Given the description of an element on the screen output the (x, y) to click on. 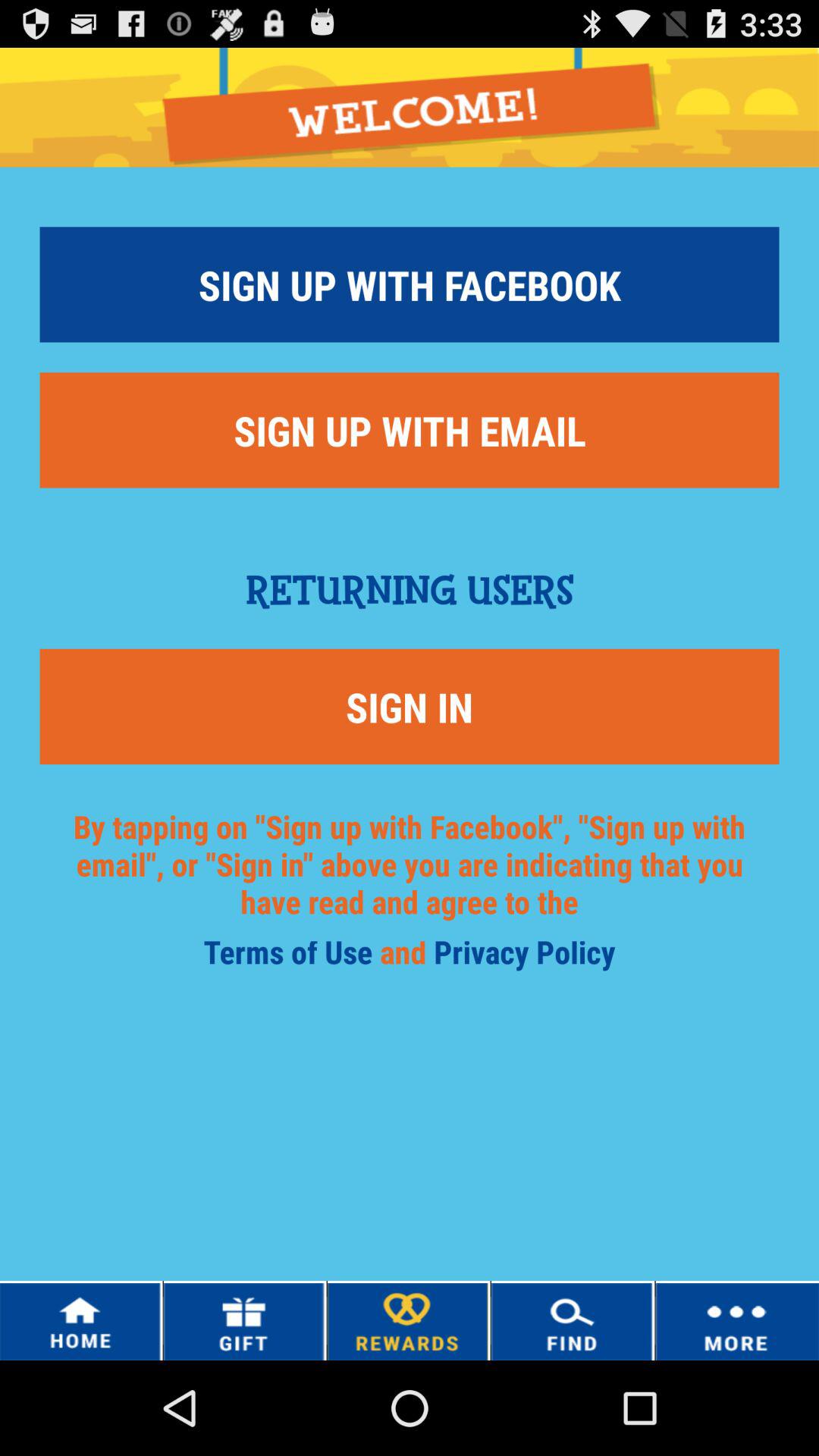
turn off the item next to and  icon (524, 957)
